Given the description of an element on the screen output the (x, y) to click on. 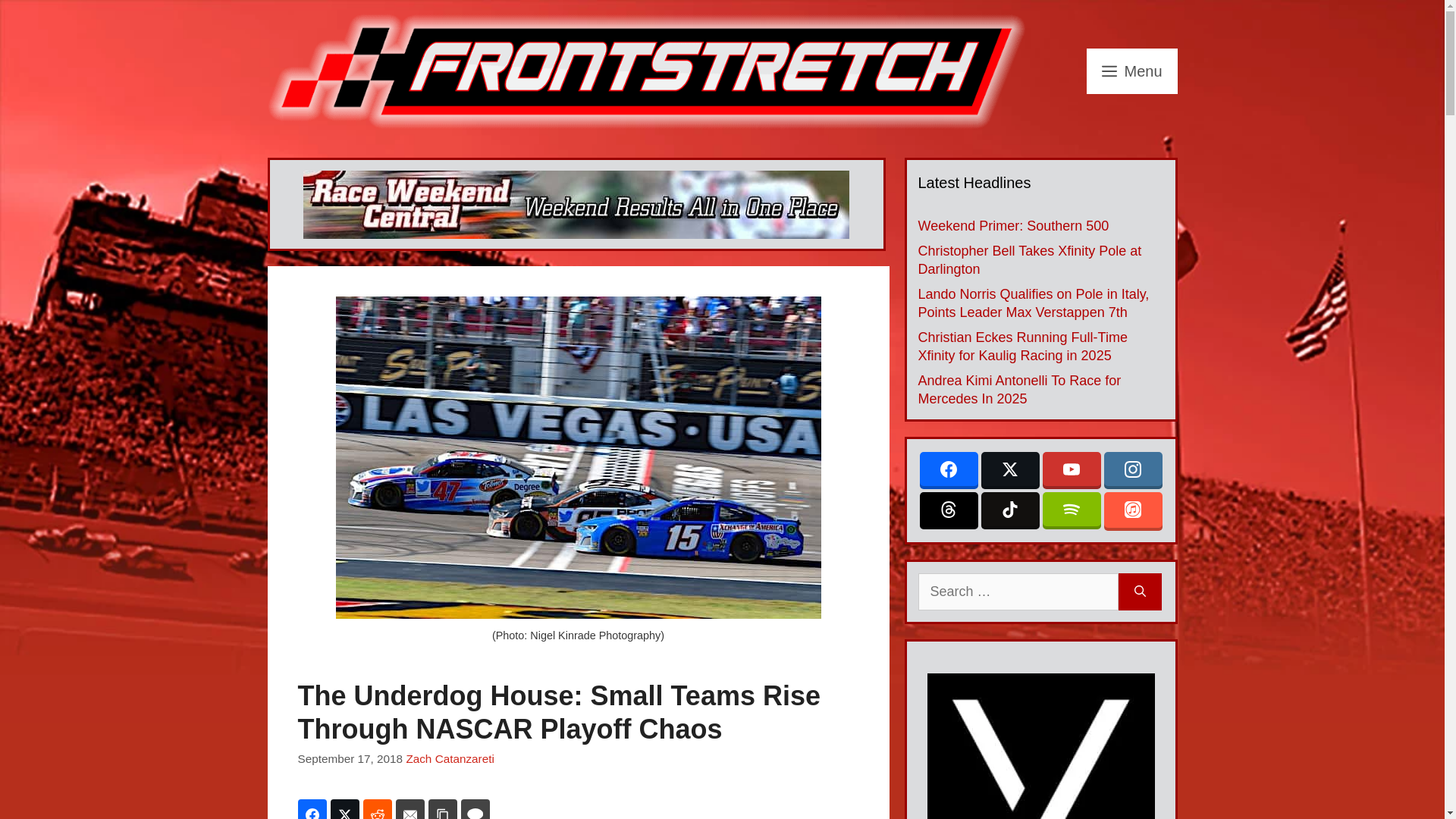
Share on Comments (475, 809)
Share on Email (410, 809)
Share on Copy Link (442, 809)
Share on Facebook (311, 809)
Menu (1131, 71)
Share on Reddit (376, 809)
Search for: (1017, 591)
Share on Twitter (344, 809)
Zach Catanzareti (449, 758)
